Given the description of an element on the screen output the (x, y) to click on. 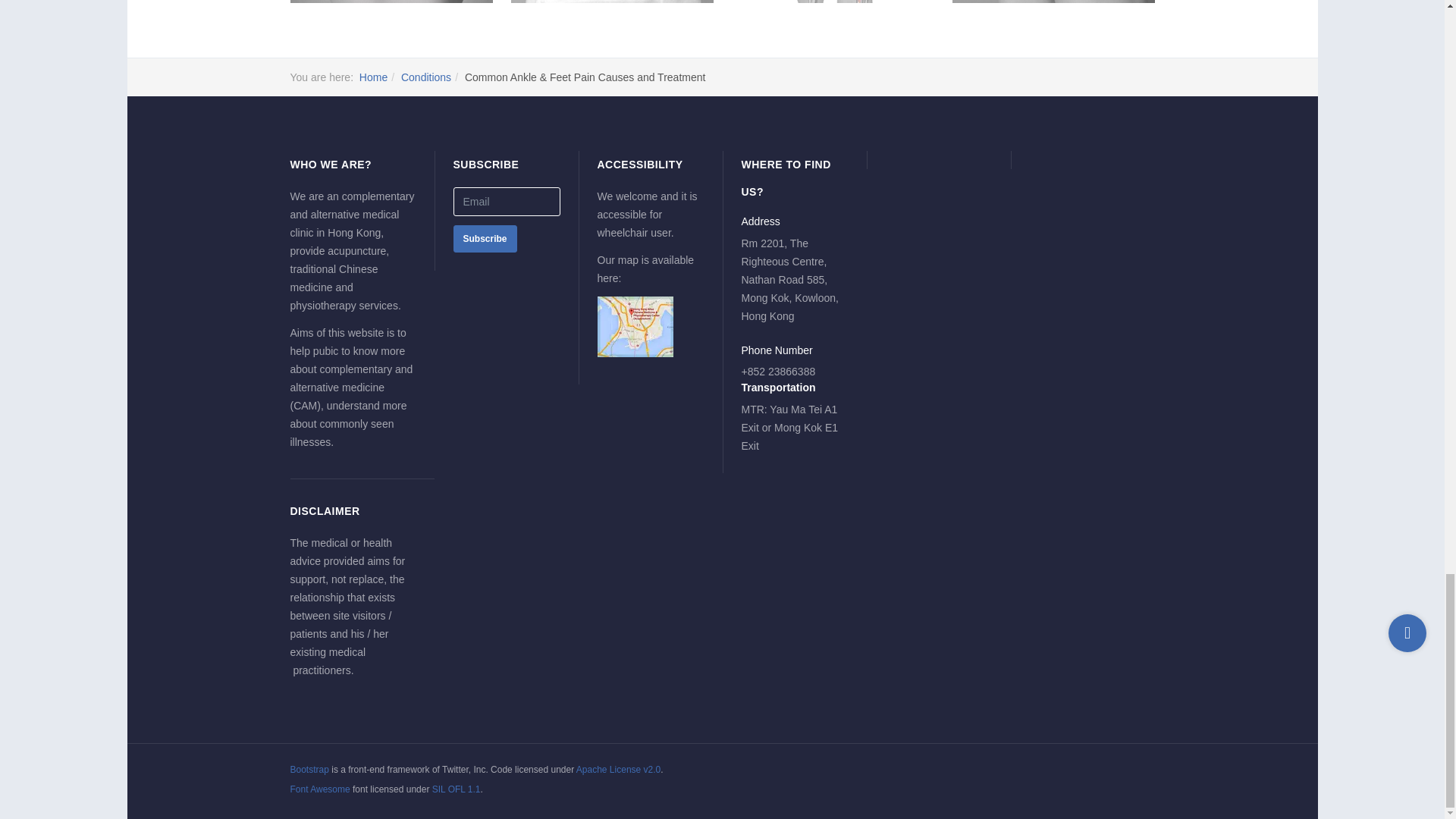
Neck Pain Condition (390, 1)
Back Pain Condition (612, 1)
Knee Pain Condition (1053, 1)
Sciatica (831, 1)
Subscribe (484, 238)
